Given the description of an element on the screen output the (x, y) to click on. 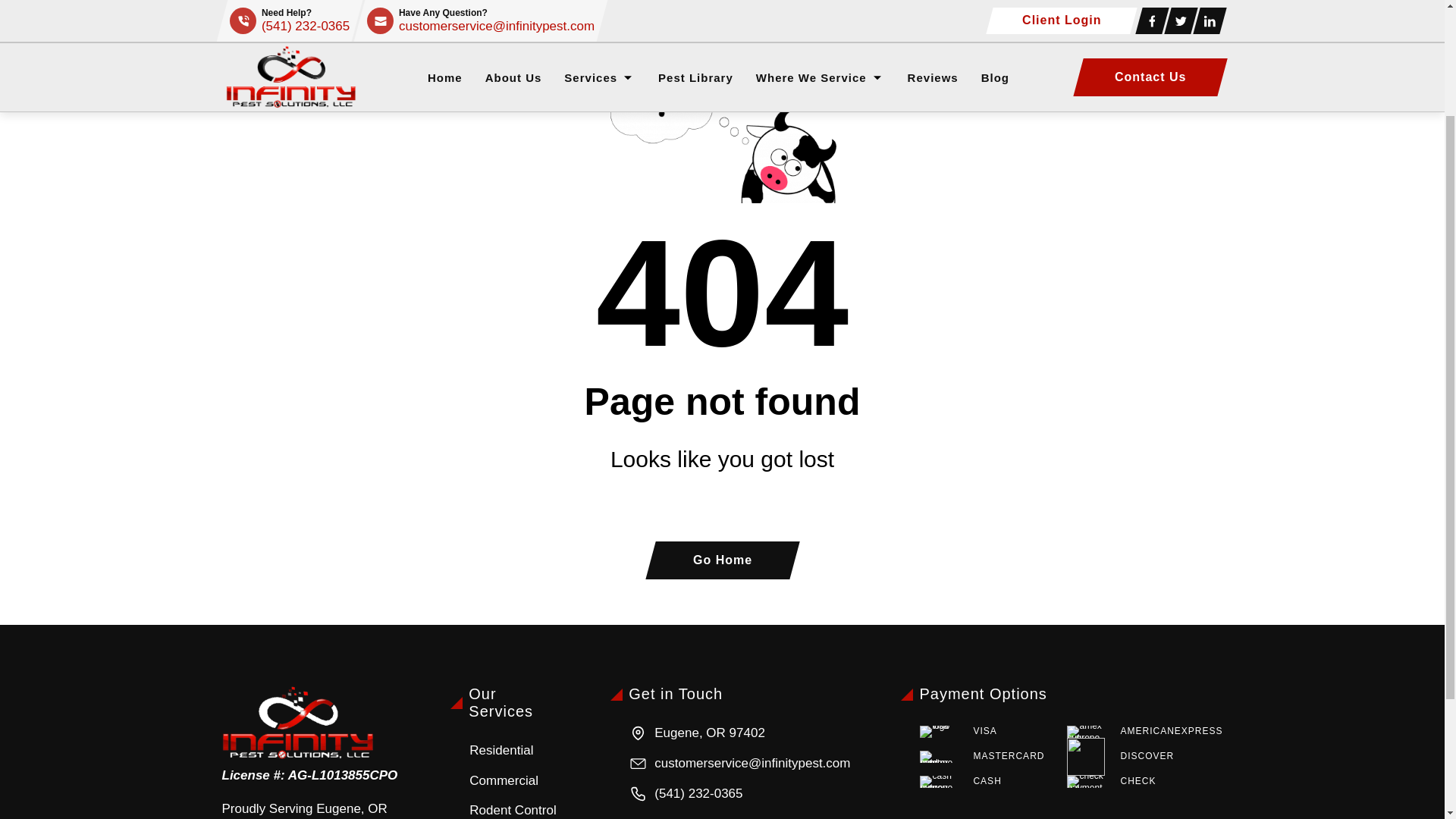
Go Home (717, 560)
Rodent Control (512, 810)
Eugene, OR 97402 (737, 733)
Commercial (512, 780)
Residential (512, 750)
